Given the description of an element on the screen output the (x, y) to click on. 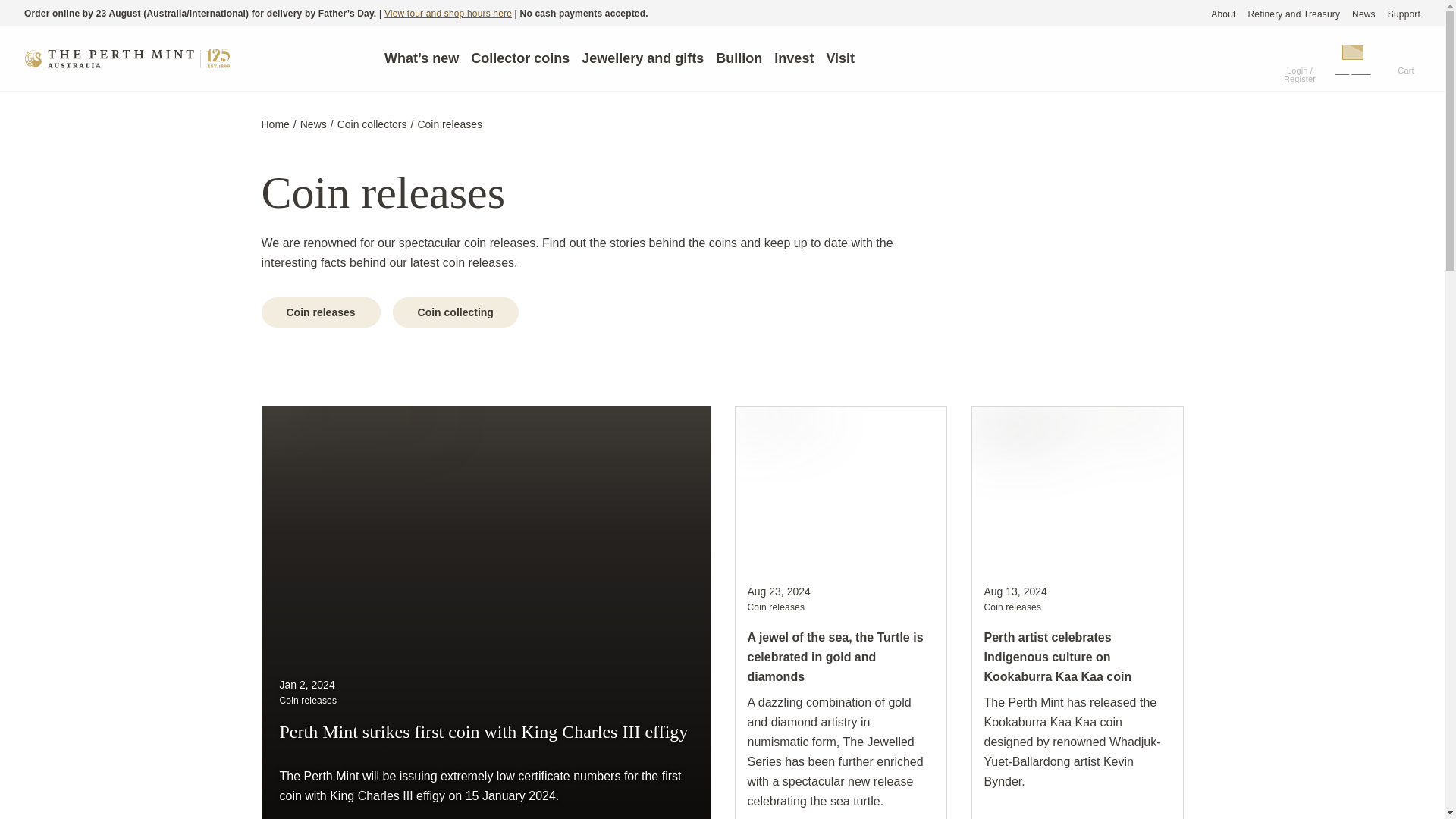
Support (1404, 14)
Refinery and Treasury (1293, 14)
News (1363, 14)
View tour and shop hours here (448, 13)
About (1222, 14)
Collector coins (519, 57)
